Given the description of an element on the screen output the (x, y) to click on. 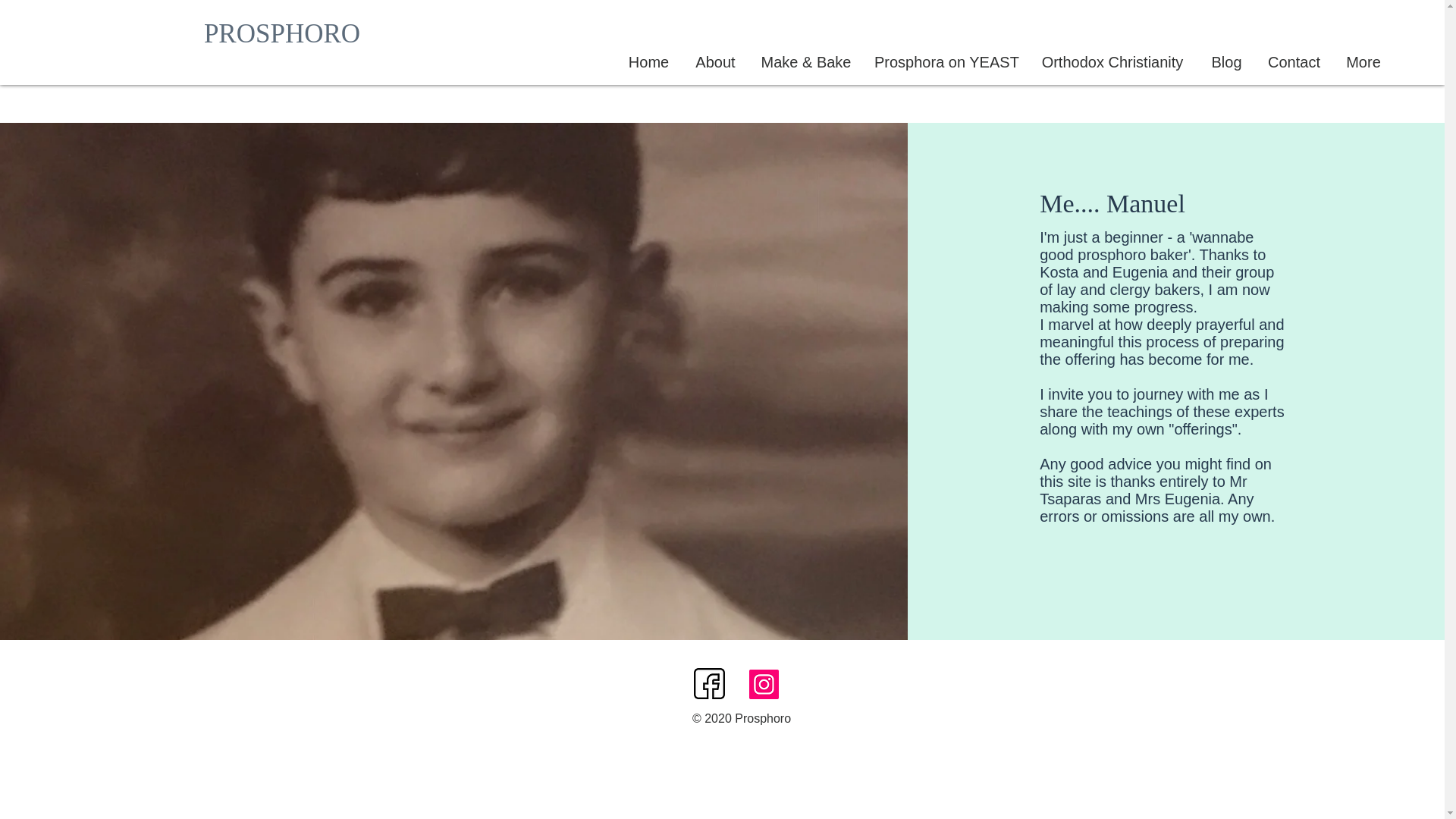
PROSPHORO (282, 33)
Prosphora on YEAST (944, 62)
Blog (1226, 62)
Orthodox Christianity (1112, 62)
About (715, 62)
Home (648, 62)
Contact (1294, 62)
